Given the description of an element on the screen output the (x, y) to click on. 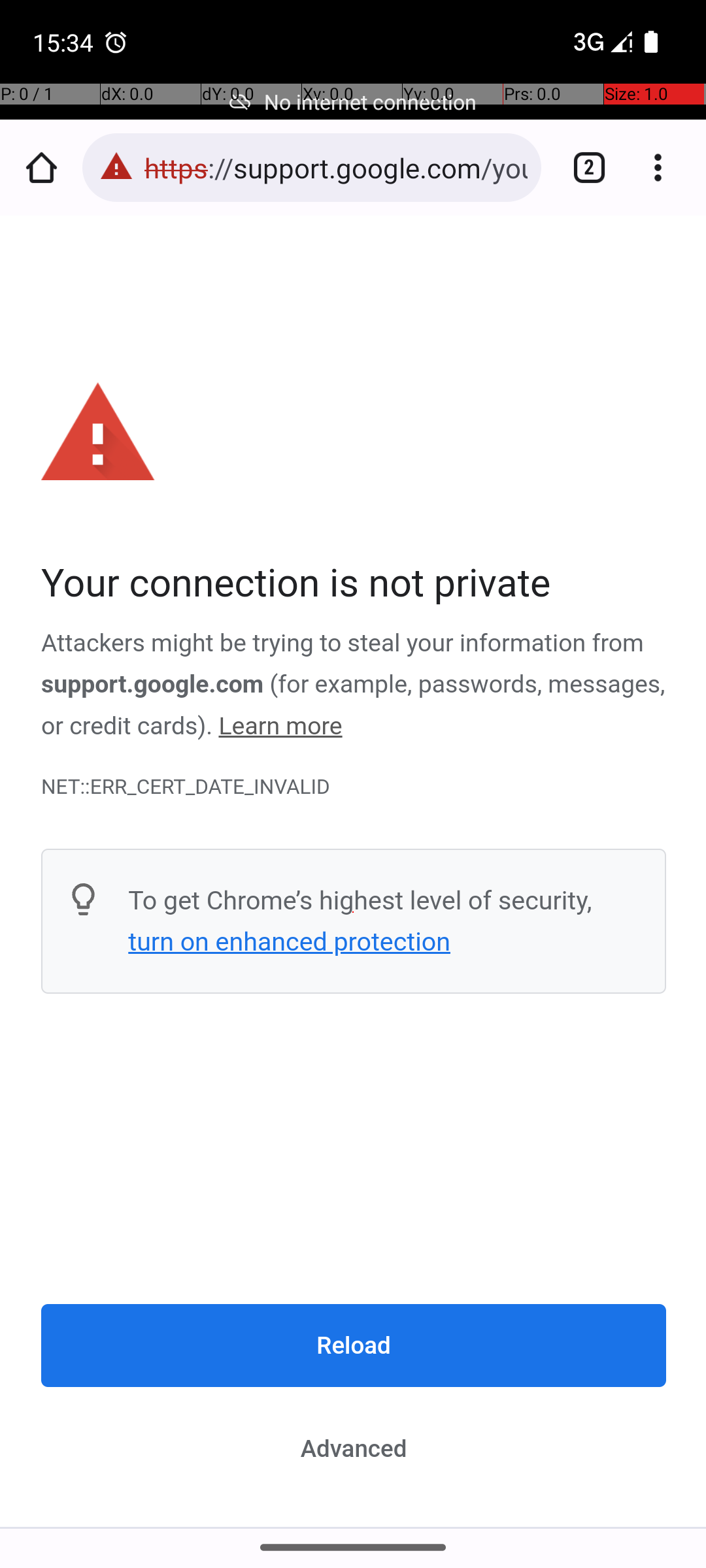
https://support.google.com/youtube/answer/7640706?hl=%@ Element type: android.widget.EditText (335, 167)
support.google.com Element type: android.widget.TextView (152, 684)
